Given the description of an element on the screen output the (x, y) to click on. 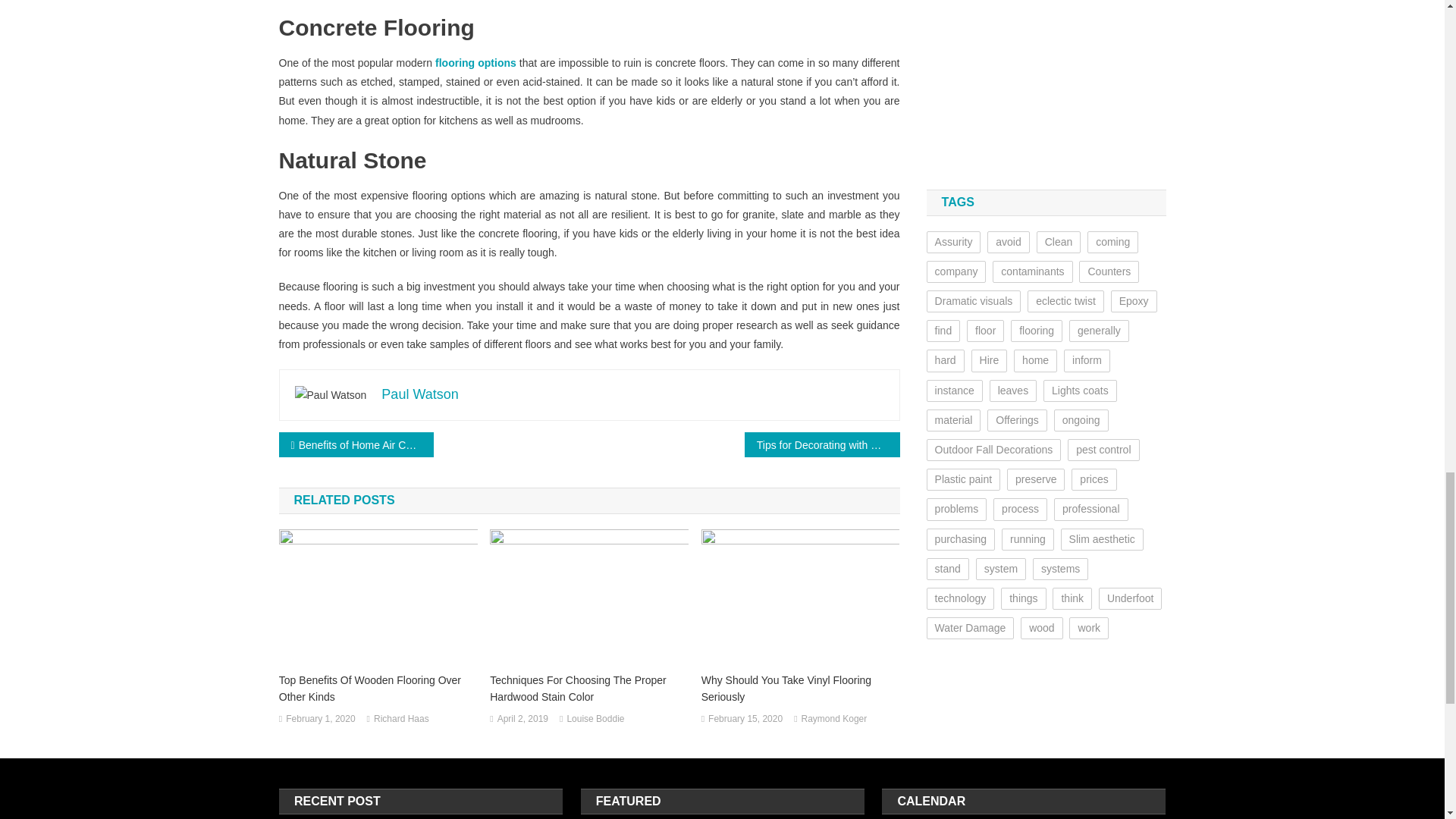
Techniques For Choosing The Proper Hardwood Stain Color (588, 688)
February 1, 2020 (320, 719)
Raymond Koger (834, 719)
Benefits of Home Air Conditioning (356, 444)
Why Should You Take Vinyl Flooring Seriously (800, 688)
flooring options (474, 62)
Richard Haas (401, 719)
Paul Watson (419, 394)
February 15, 2020 (745, 719)
Tips for Decorating with Rugs (821, 444)
Louise Boddie (595, 719)
April 2, 2019 (522, 719)
Top Benefits Of Wooden Flooring Over Other Kinds (378, 688)
